Given the description of an element on the screen output the (x, y) to click on. 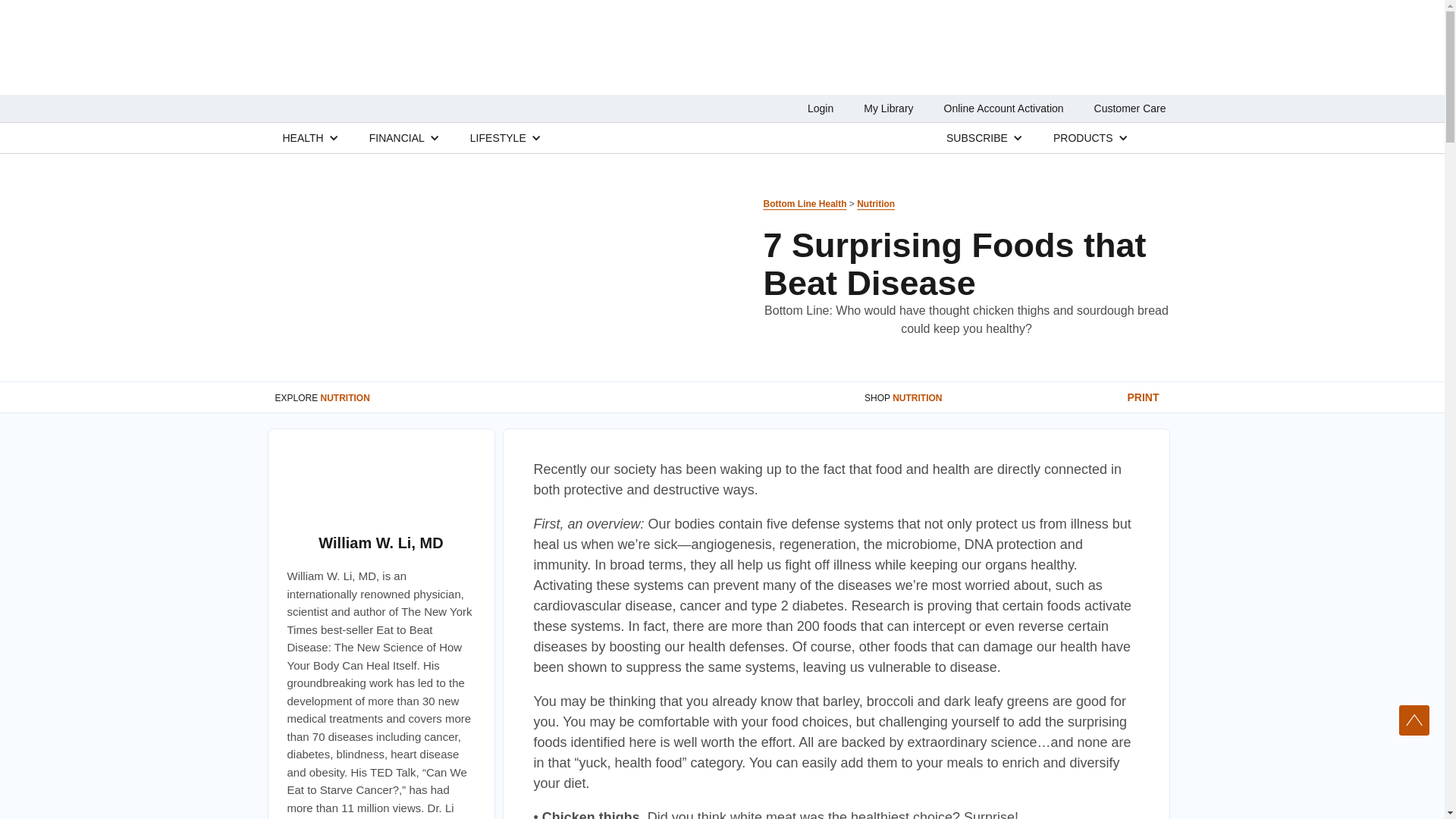
FINANCIAL (397, 137)
Scroll To Top (1414, 720)
My Library (887, 108)
Login (820, 108)
Online Account Activation (1003, 108)
Scroll To Top (1414, 720)
LIFESTYLE (497, 137)
Customer Care (1130, 108)
HEALTH (302, 137)
Scroll To Top (1414, 720)
